Given the description of an element on the screen output the (x, y) to click on. 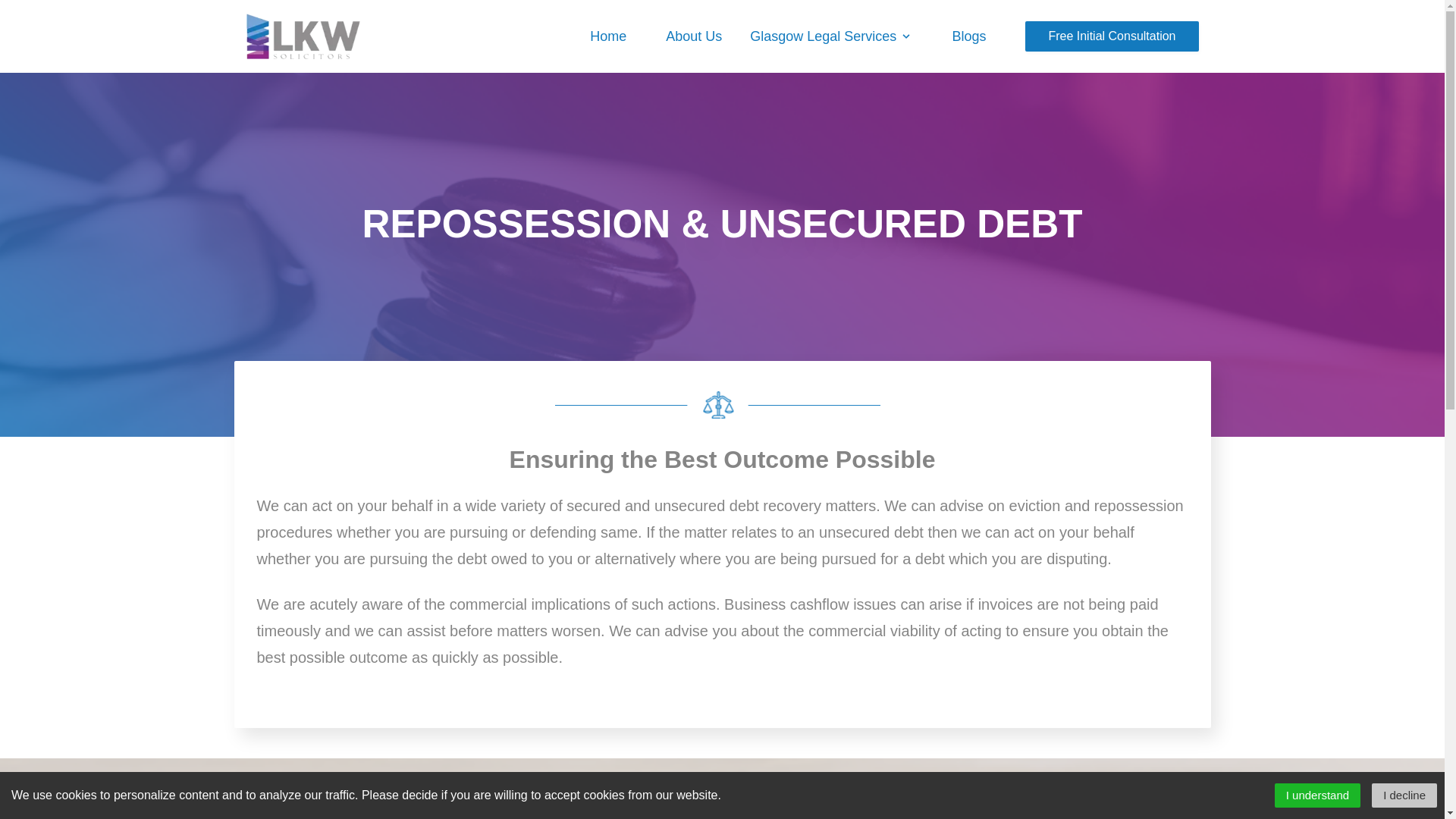
Blogs (968, 35)
Property Division (843, 51)
Glasgow Legal Services (828, 32)
Home (607, 35)
Child Custody or Contact Disputes (896, 51)
Free Initial Consultation (1111, 35)
About Us (693, 35)
Civil Litigation (834, 51)
